Given the description of an element on the screen output the (x, y) to click on. 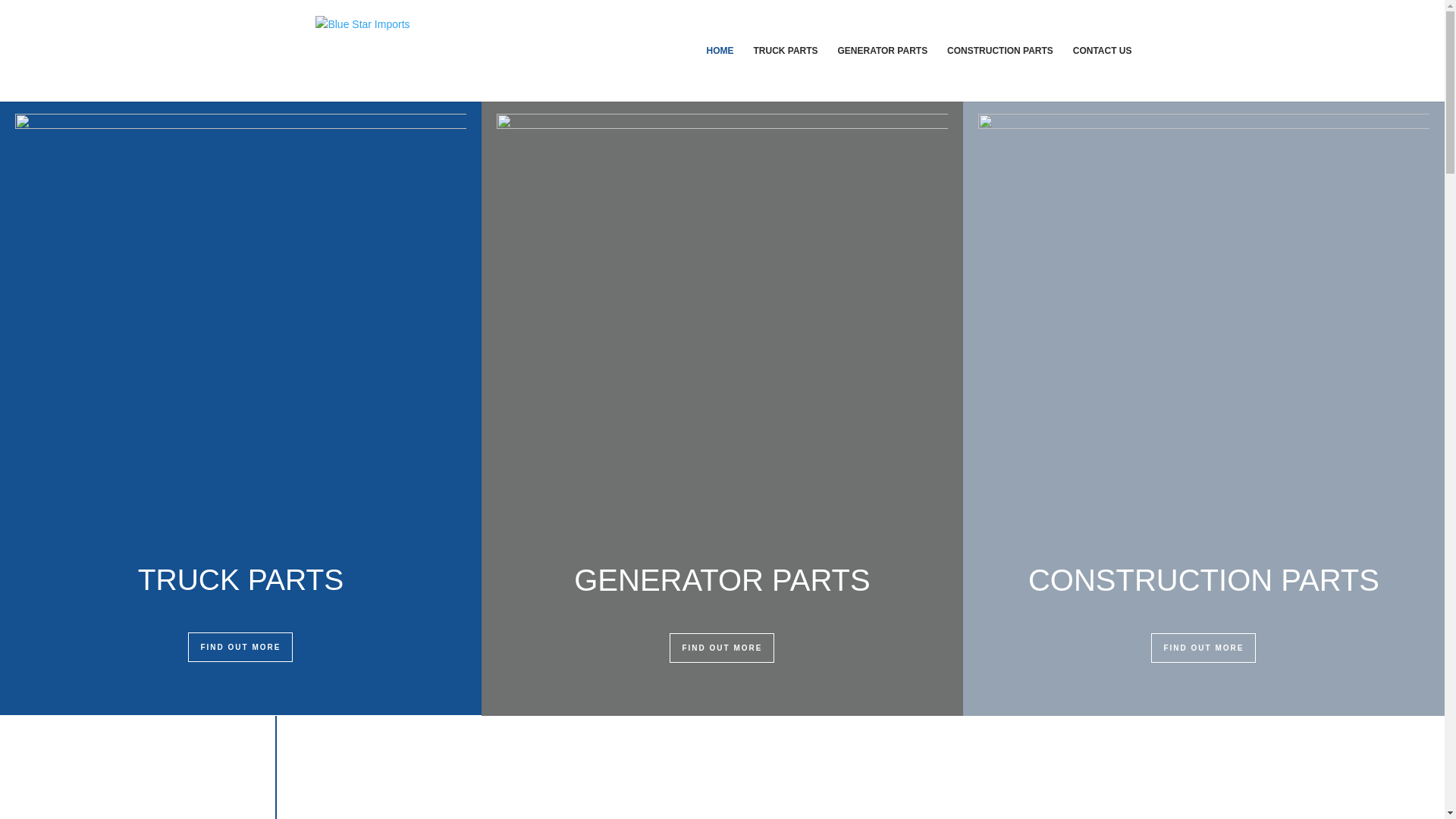
FIND OUT MORE (1203, 647)
FIND OUT MORE (721, 647)
CONSTRUCTION PARTS (999, 73)
FIND OUT MORE (239, 646)
GENERATOR PARTS (882, 73)
TRUCK PARTS (784, 73)
CONTACT US (1102, 73)
